Given the description of an element on the screen output the (x, y) to click on. 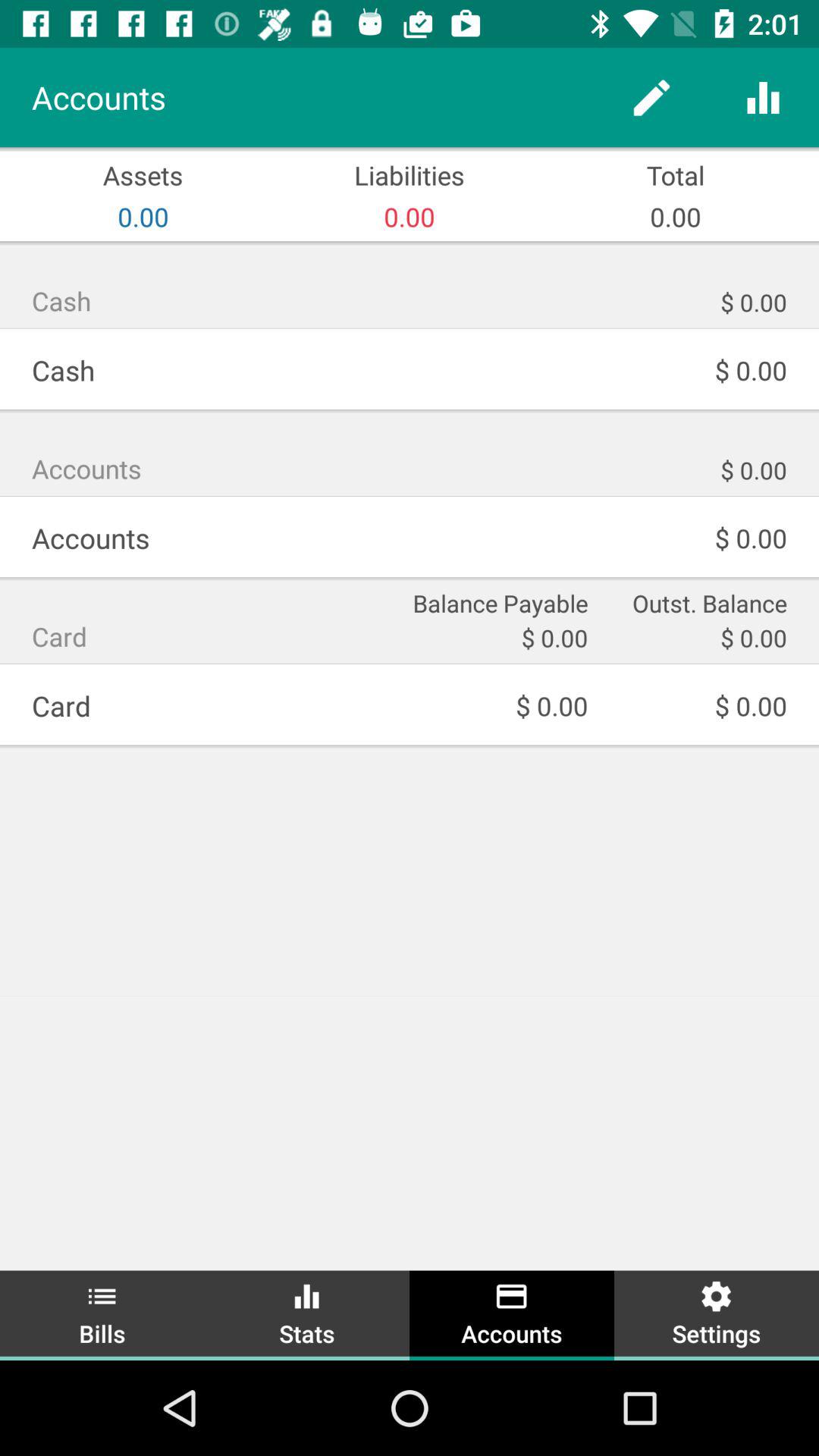
click icon below accounts (498, 601)
